Given the description of an element on the screen output the (x, y) to click on. 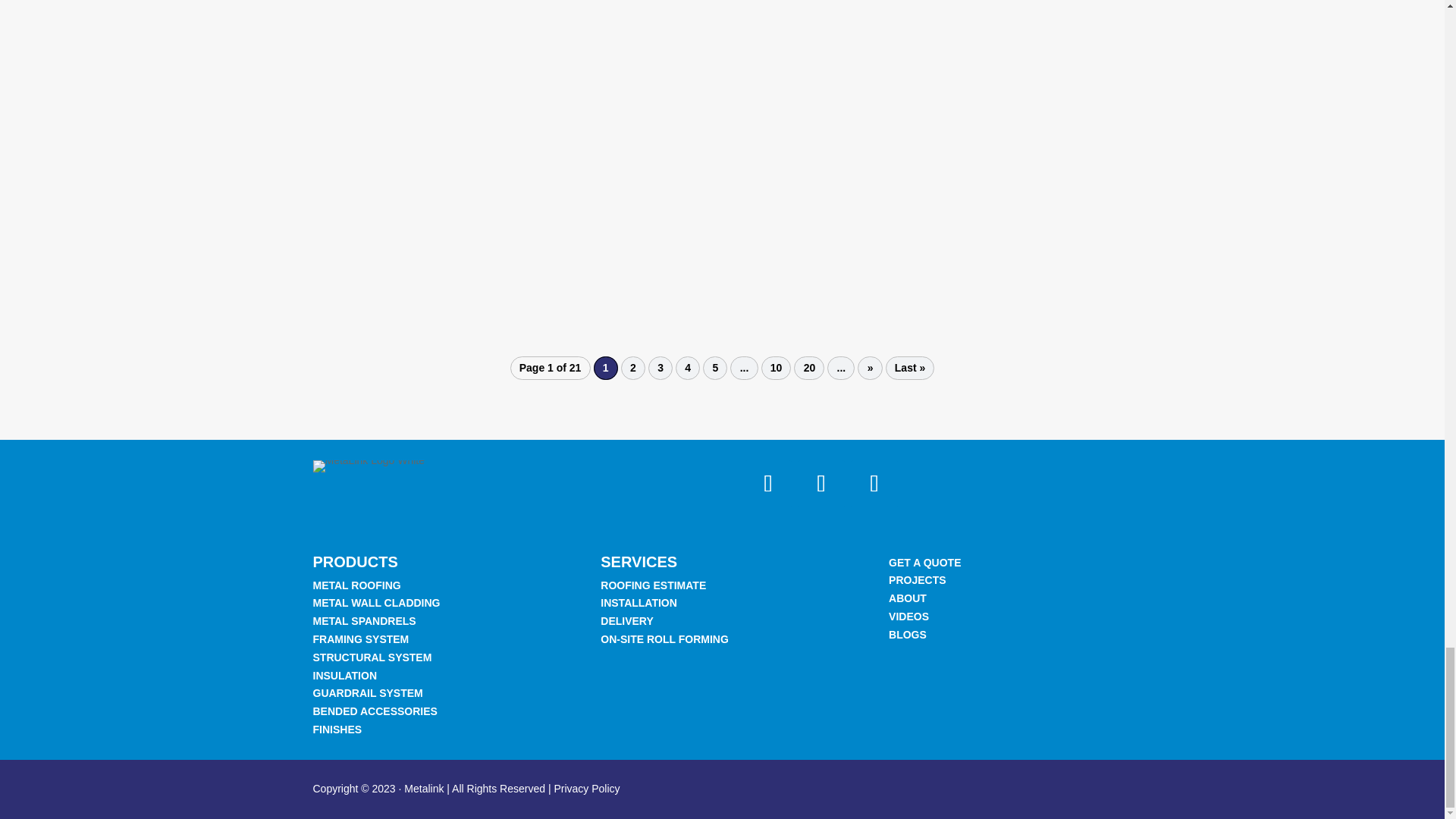
Page 10 (776, 368)
Page 20 (808, 368)
Page 4 (687, 368)
Follow on Youtube (874, 483)
Follow on Instagram (768, 483)
Page 3 (659, 368)
Page 2 (633, 368)
Follow on Facebook (820, 483)
Page 5 (714, 368)
